Given the description of an element on the screen output the (x, y) to click on. 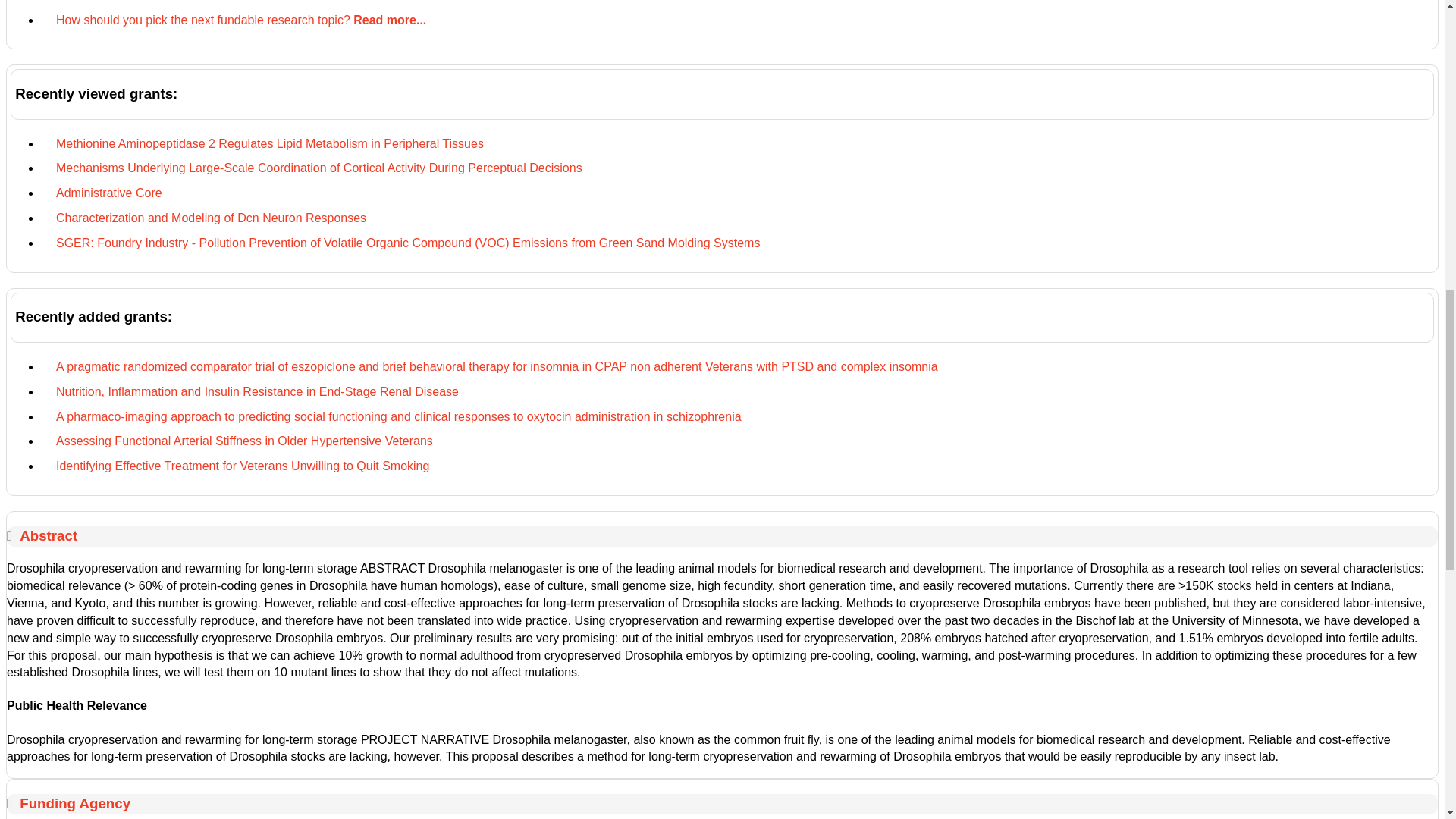
Abstract (48, 535)
Funding Agency (75, 803)
